Given the description of an element on the screen output the (x, y) to click on. 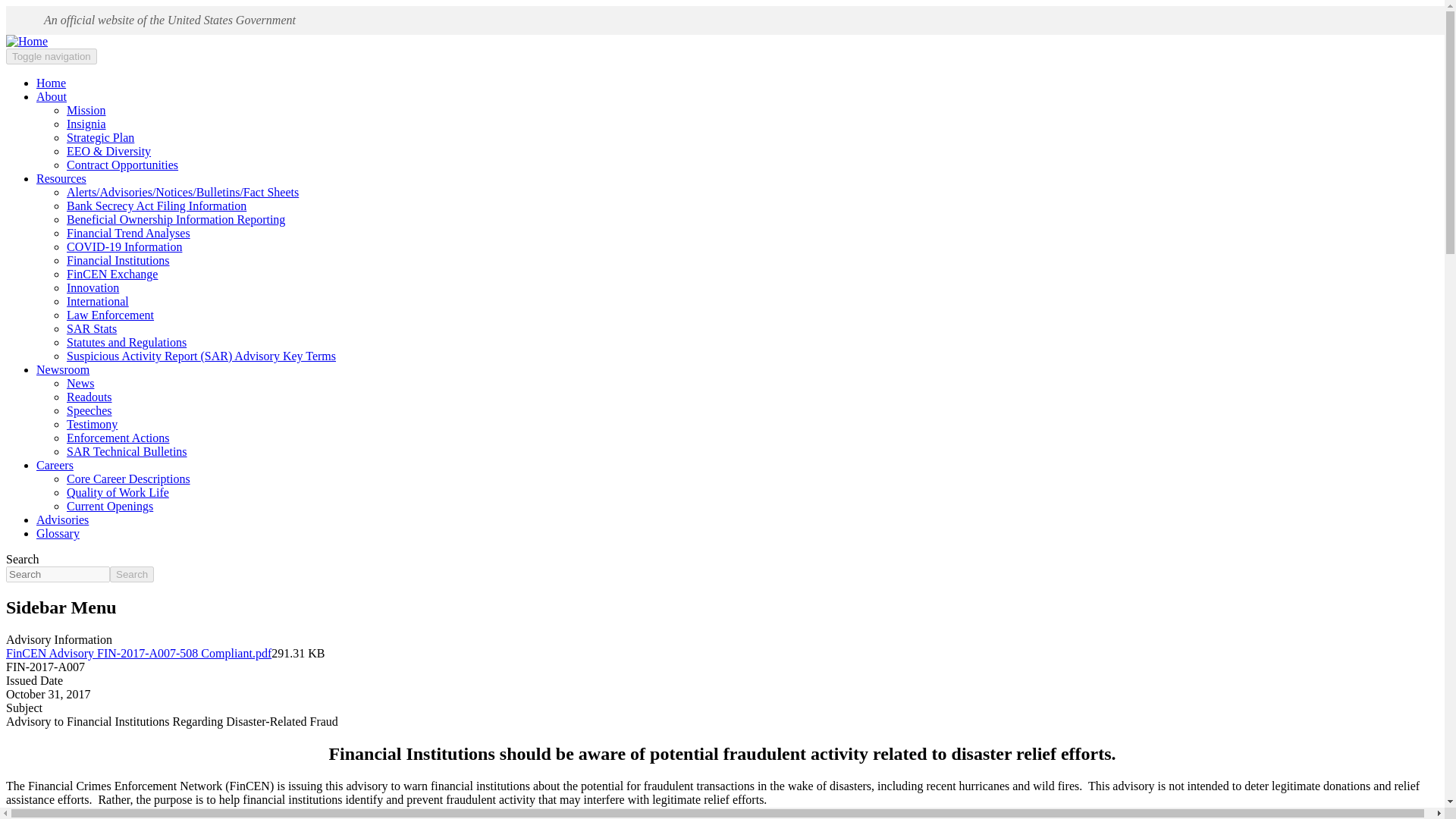
Readouts (89, 396)
Financial Trend Analyses (128, 232)
Beneficial Ownership Information Reporting (175, 219)
Financial Institutions (118, 259)
Core Career Descriptions (128, 478)
COVID-19 Information (124, 246)
Insignia (86, 123)
Current Openings (109, 505)
Speeches (89, 410)
SAR Technical Bulletins (126, 451)
